Given the description of an element on the screen output the (x, y) to click on. 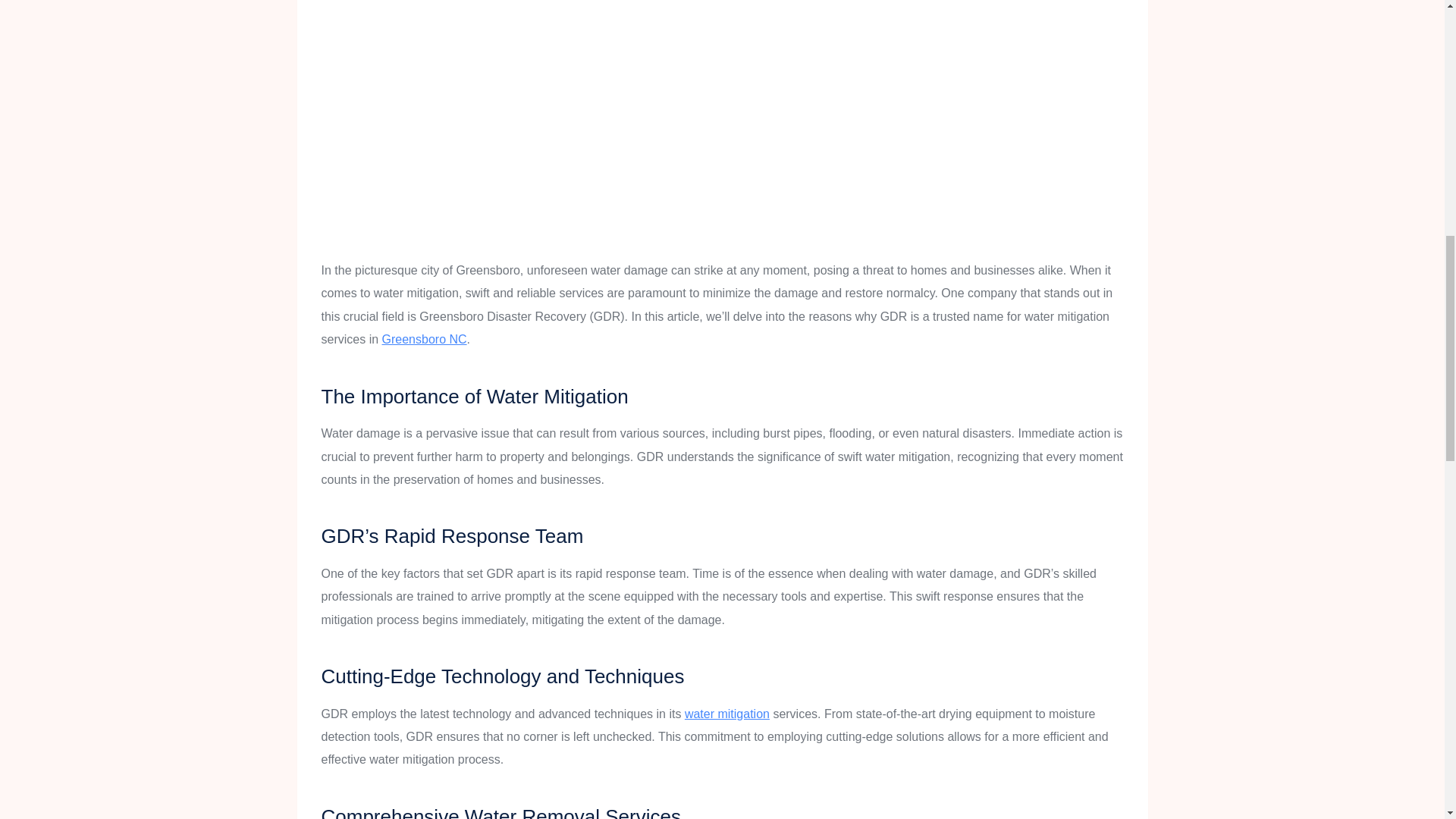
water mitigation (727, 713)
Greensboro NC (424, 338)
